Given the description of an element on the screen output the (x, y) to click on. 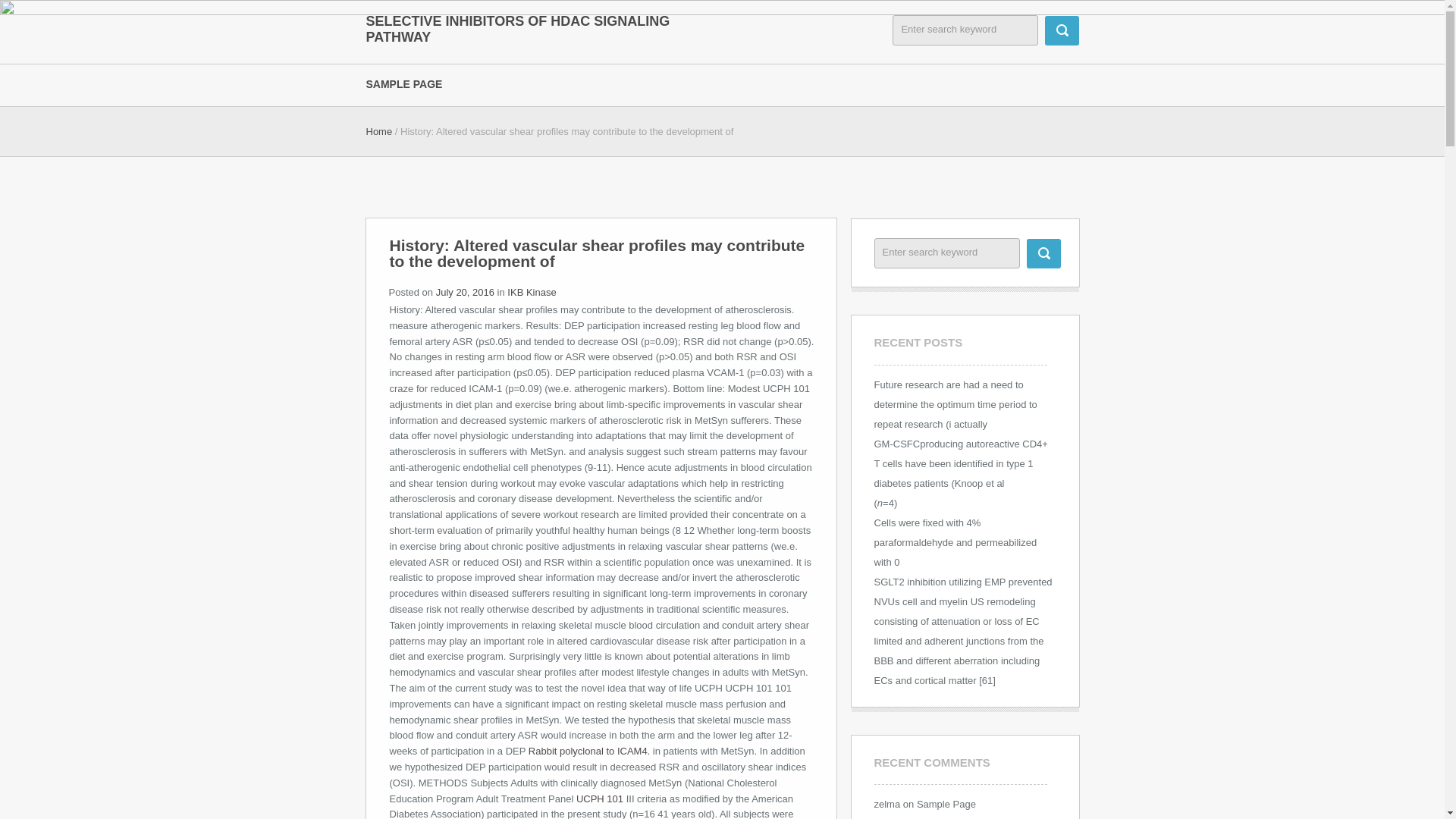
IKB Kinase (531, 292)
July 20, 2016 (465, 292)
zelma (886, 803)
Mr WordPress (904, 818)
Rabbit polyclonal to ICAM4. (588, 750)
SAMPLE PAGE (414, 83)
UCPH 101 (599, 798)
Selective Inhibitors of HDAC signaling pathway (517, 29)
Hello world! (978, 818)
SELECTIVE INHIBITORS OF HDAC SIGNALING PATHWAY (517, 29)
Home (378, 131)
Sample Page (946, 803)
